Given the description of an element on the screen output the (x, y) to click on. 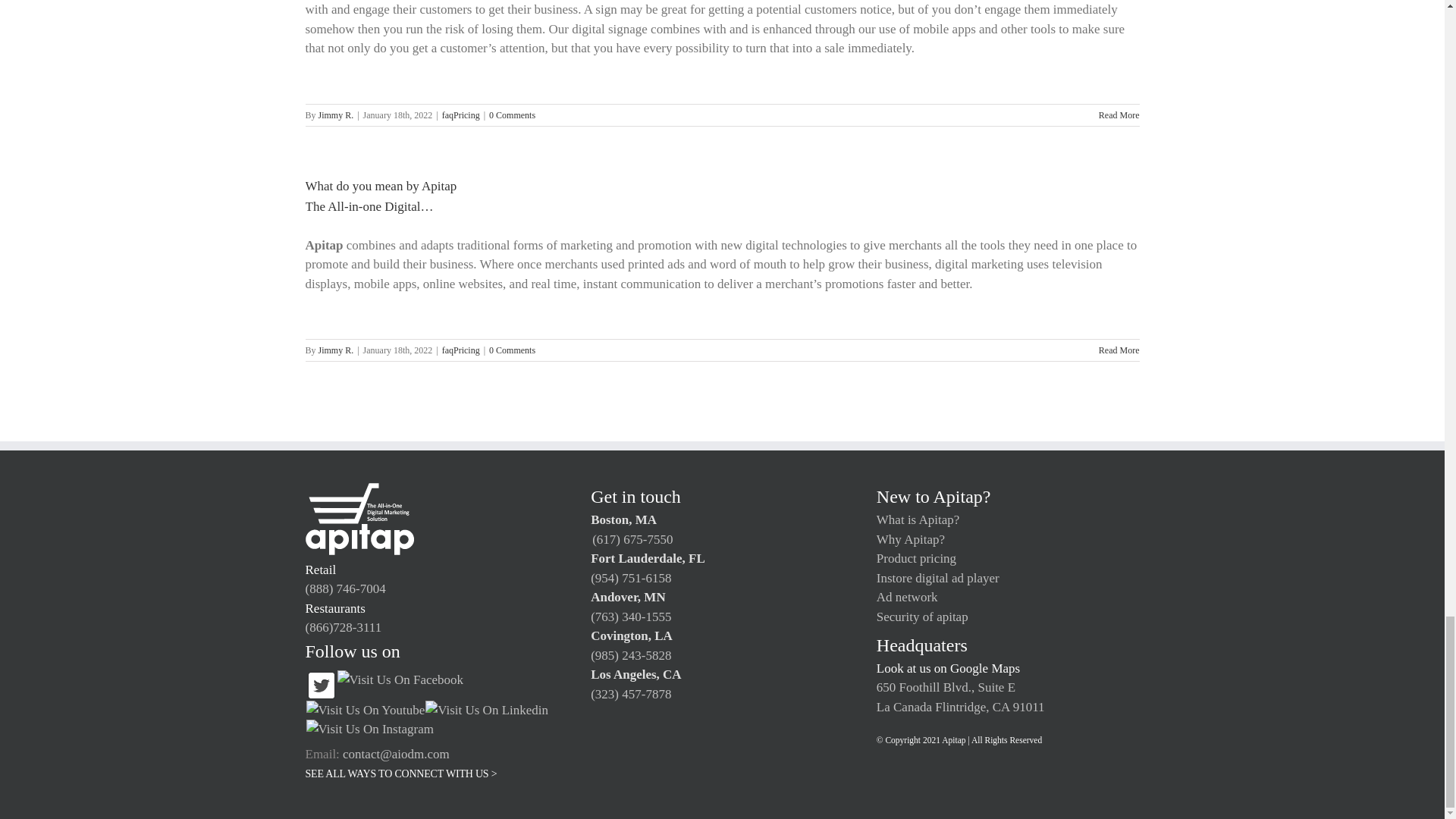
Posts by Jimmy R. (335, 349)
Visit Us On Instagram (368, 728)
Posts by Jimmy R. (335, 114)
Visit Us On Linkedin (486, 709)
Visit Us On Facebook (400, 679)
Visit Us On Youtube (364, 709)
Visit Us On Twitter (320, 679)
